Given the description of an element on the screen output the (x, y) to click on. 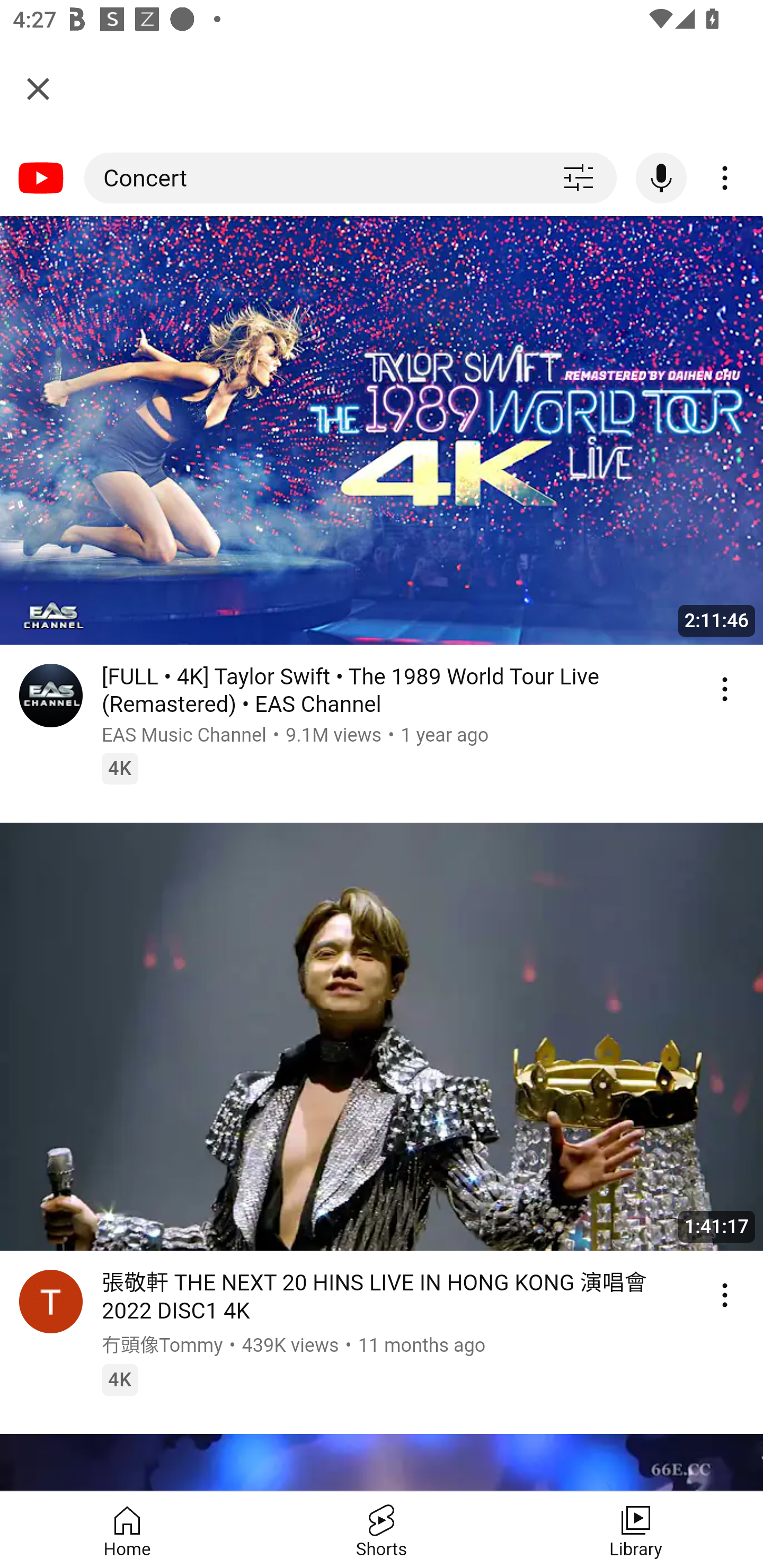
Close (38, 88)
YouTube (41, 177)
Concert (311, 178)
Search filters (578, 178)
Account (724, 177)
Search with your voice (660, 177)
Action menu (724, 688)
Go to channel (50, 697)
Action menu (724, 1294)
Go to channel (50, 1303)
Home (127, 1530)
Shorts (381, 1530)
Library (635, 1530)
